Given the description of an element on the screen output the (x, y) to click on. 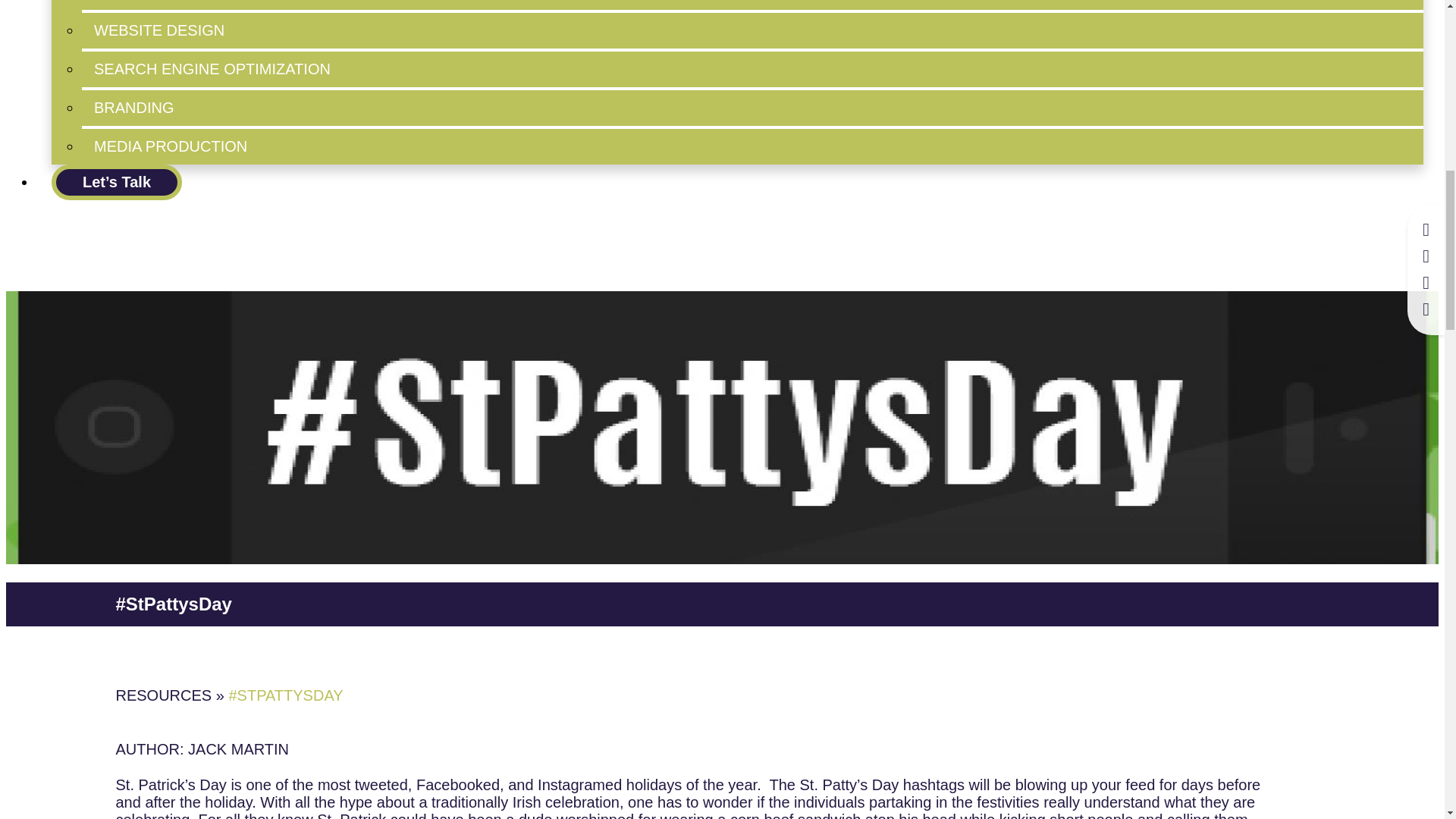
BRANDING (752, 108)
SEARCH ENGINE OPTIMIZATION (752, 68)
MEDIA PRODUCTION (752, 146)
RESOURCES (163, 695)
WEBSITE DESIGN (752, 30)
